Given the description of an element on the screen output the (x, y) to click on. 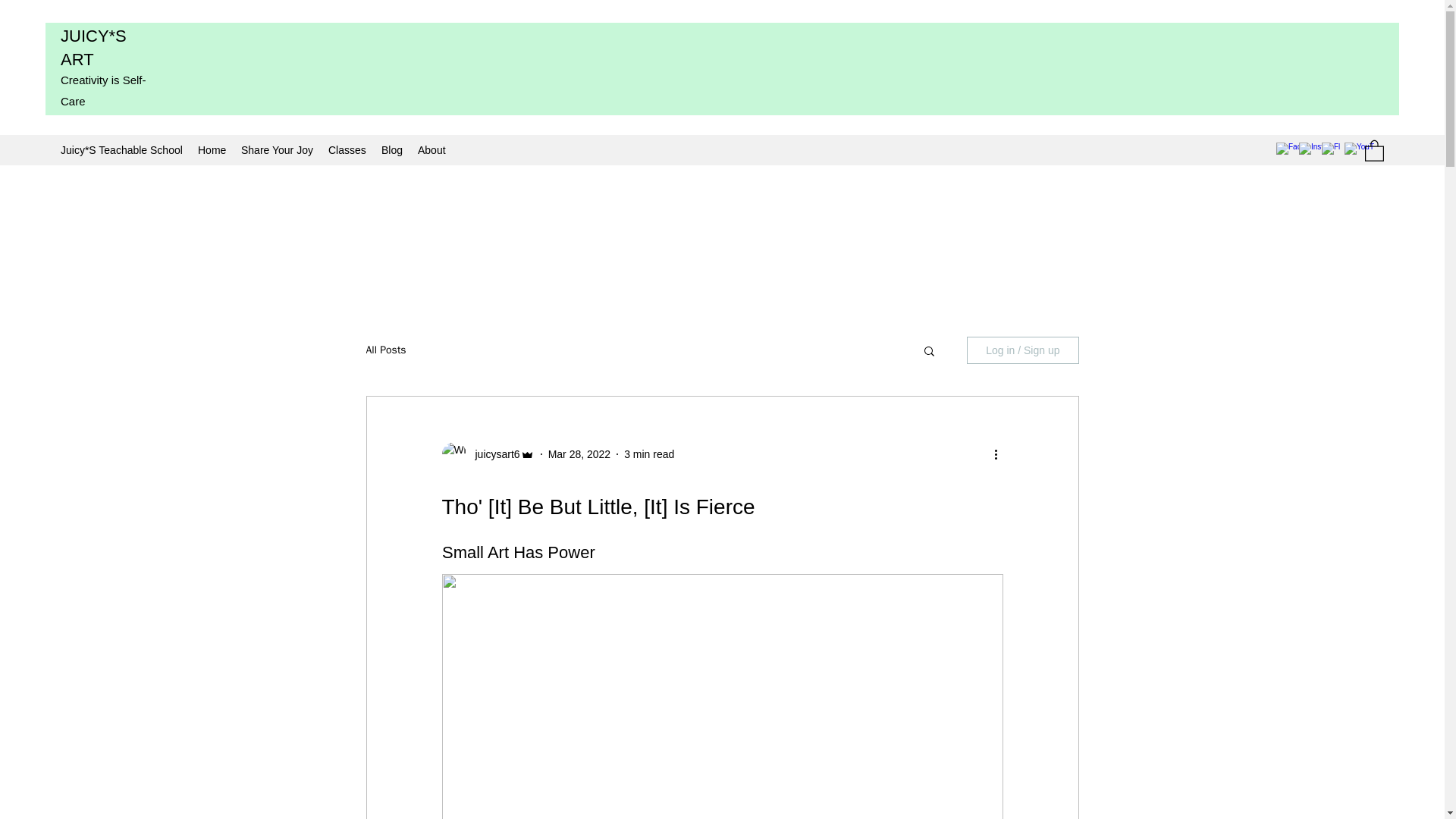
Share Your Joy (276, 149)
All Posts (385, 350)
3 min read (649, 453)
Classes (347, 149)
About (431, 149)
Mar 28, 2022 (579, 453)
juicysart6 (492, 454)
Blog (392, 149)
Home (211, 149)
